Given the description of an element on the screen output the (x, y) to click on. 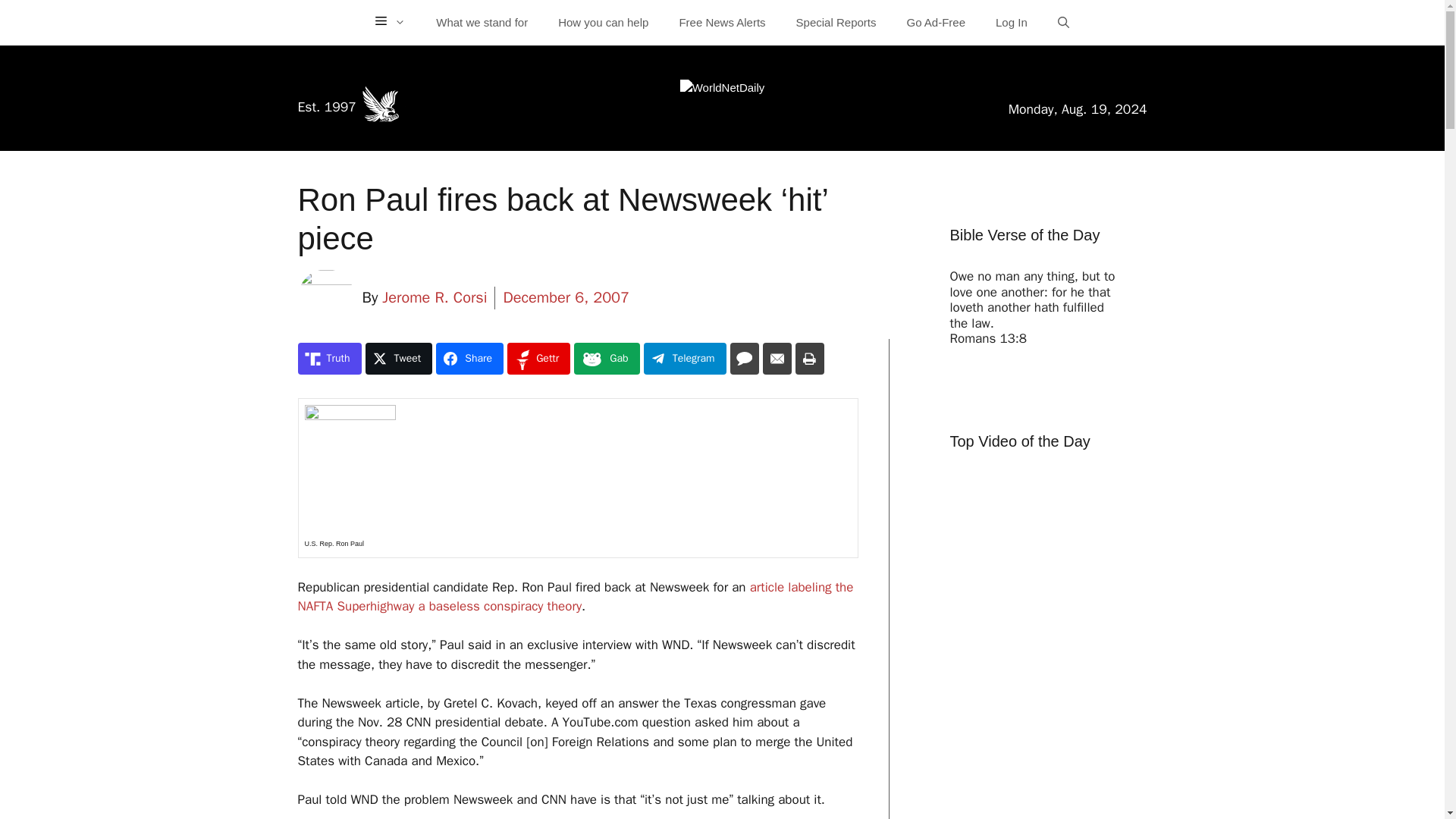
Share on Share (469, 358)
Share on Tweet (398, 358)
Share on Truth (329, 358)
Share on Telegram (684, 358)
Share on Gettr (538, 358)
Share on Gab (606, 358)
